Given the description of an element on the screen output the (x, y) to click on. 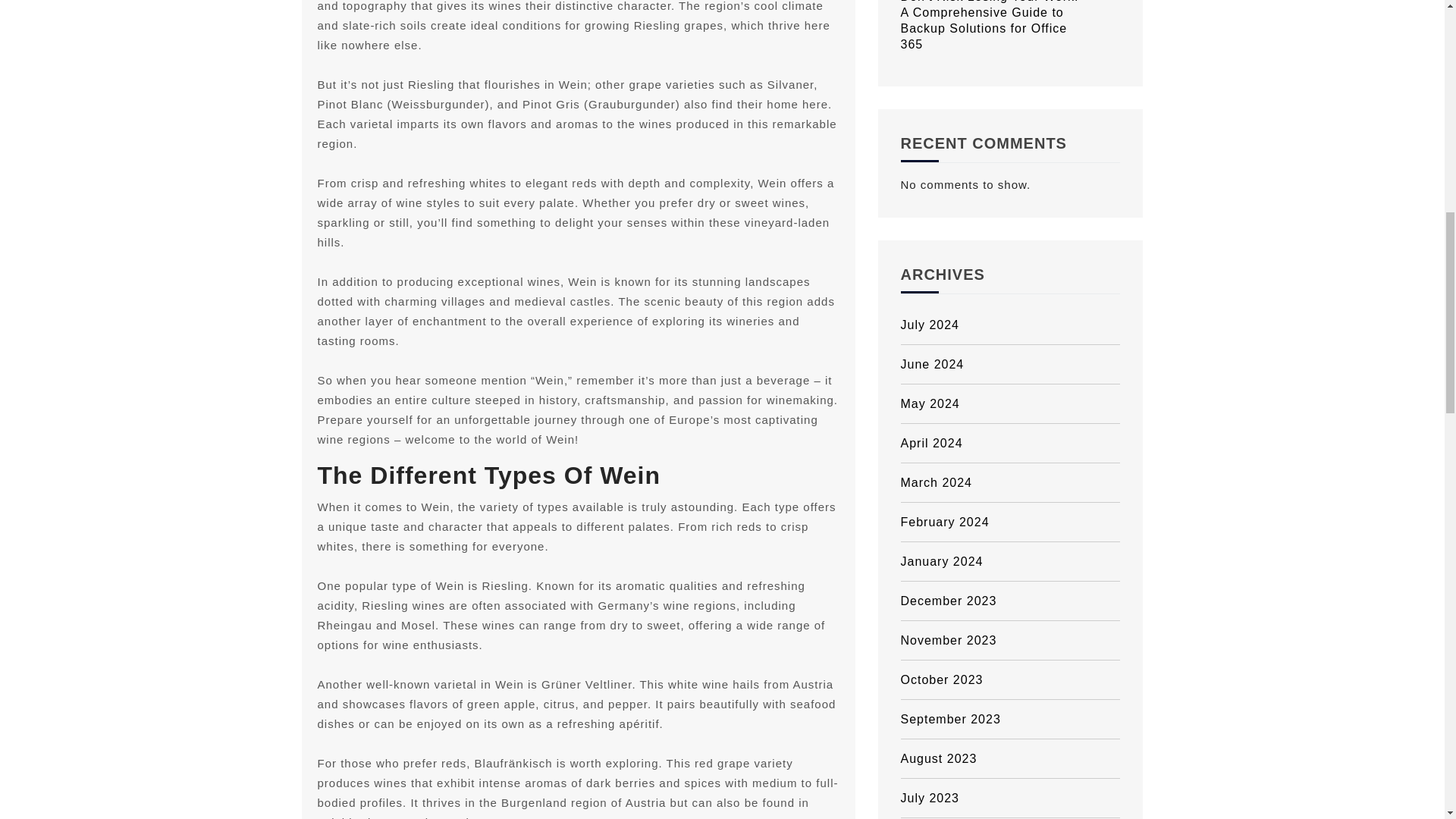
July 2023 (1011, 798)
September 2023 (1011, 719)
March 2024 (1011, 482)
August 2023 (1011, 758)
October 2023 (1011, 680)
February 2024 (1011, 522)
April 2024 (1011, 443)
July 2024 (1011, 324)
January 2024 (1011, 561)
November 2023 (1011, 640)
May 2024 (1011, 404)
December 2023 (1011, 600)
June 2024 (1011, 364)
